Given the description of an element on the screen output the (x, y) to click on. 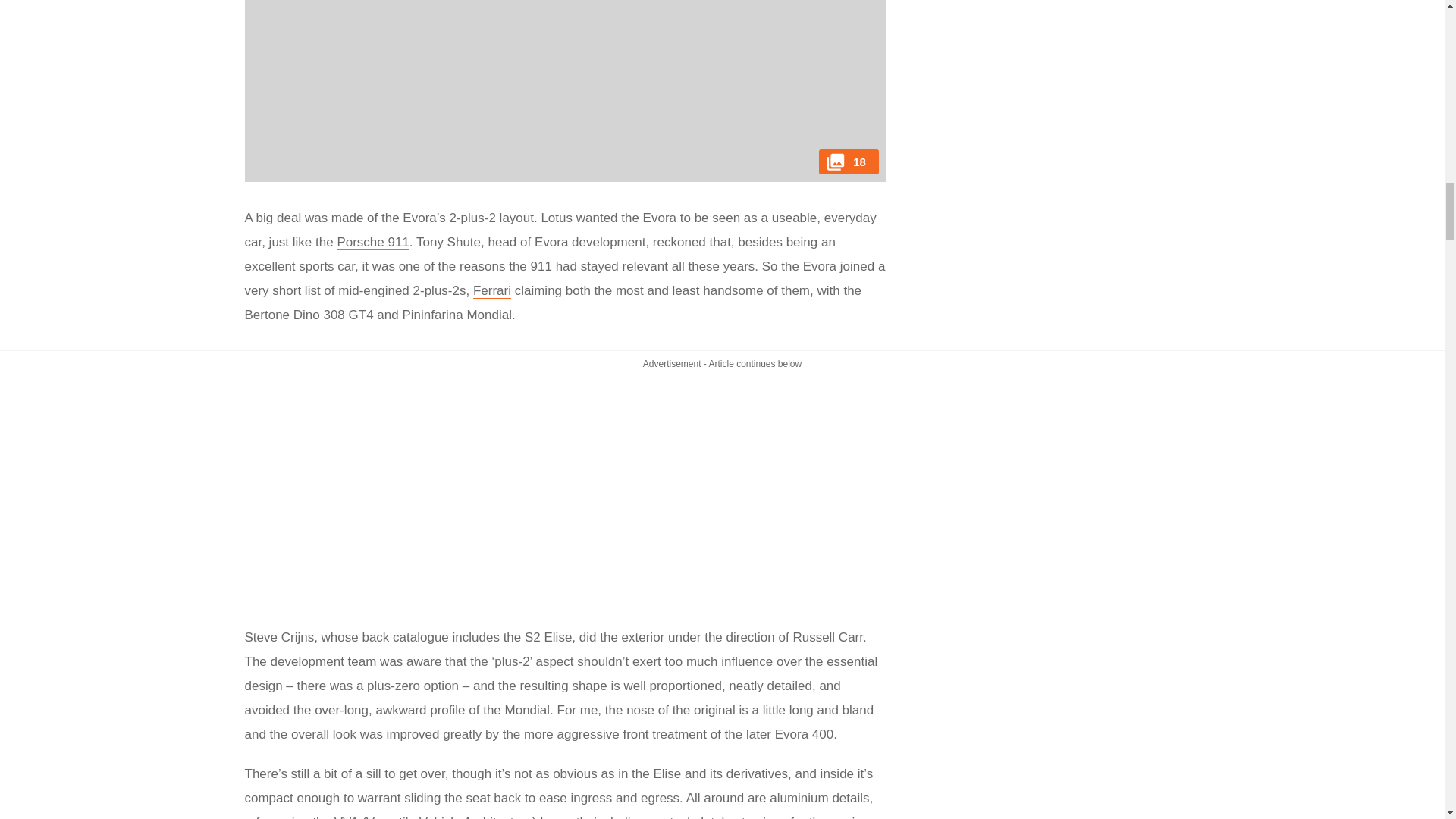
18 (564, 90)
